Given the description of an element on the screen output the (x, y) to click on. 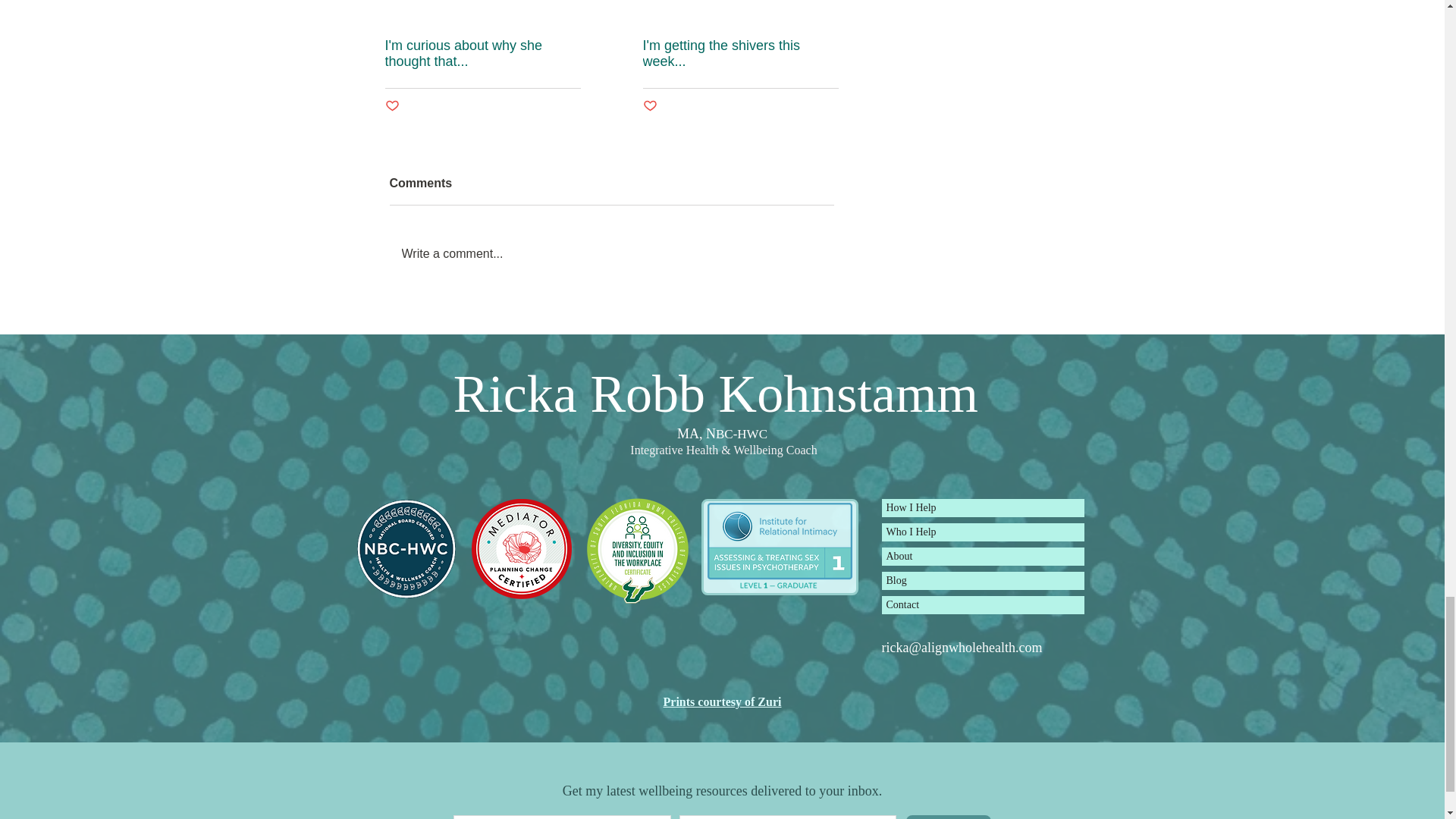
Post not marked as liked (650, 106)
Post not marked as liked (391, 106)
Assessing and Treating Sex Issues in Psychotherapy - Level 1 (778, 548)
Write a comment... (612, 253)
Planin Change Certified (521, 548)
I'm curious about why she thought that... (482, 53)
Diversity, Equity, and Inclusion inthe Workplce (637, 548)
I'm getting the shivers this week... (740, 53)
